Given the description of an element on the screen output the (x, y) to click on. 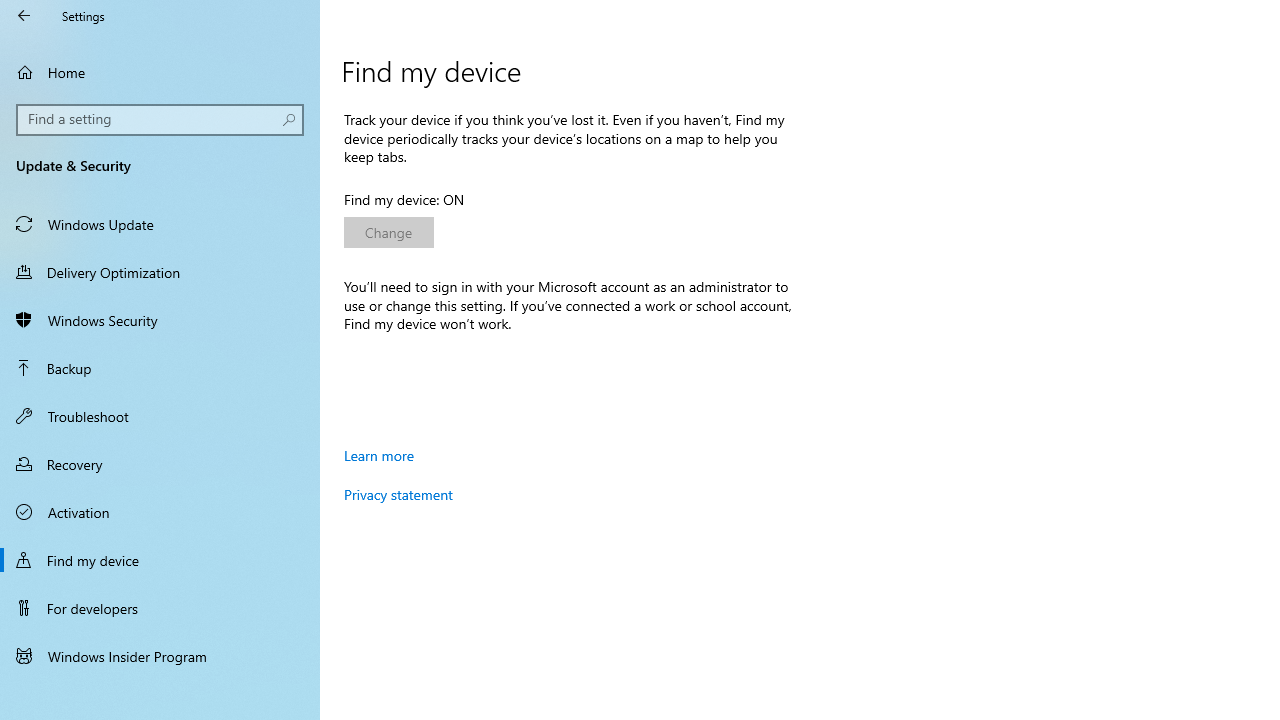
Windows Insider Program (160, 655)
Windows Update (160, 223)
Learn more (379, 455)
Troubleshoot (160, 415)
Privacy statement (398, 494)
Change (388, 231)
Windows Security (160, 319)
Activation (160, 511)
Delivery Optimization (160, 271)
Find my device (160, 559)
Backup (160, 367)
Recovery (160, 463)
